Given the description of an element on the screen output the (x, y) to click on. 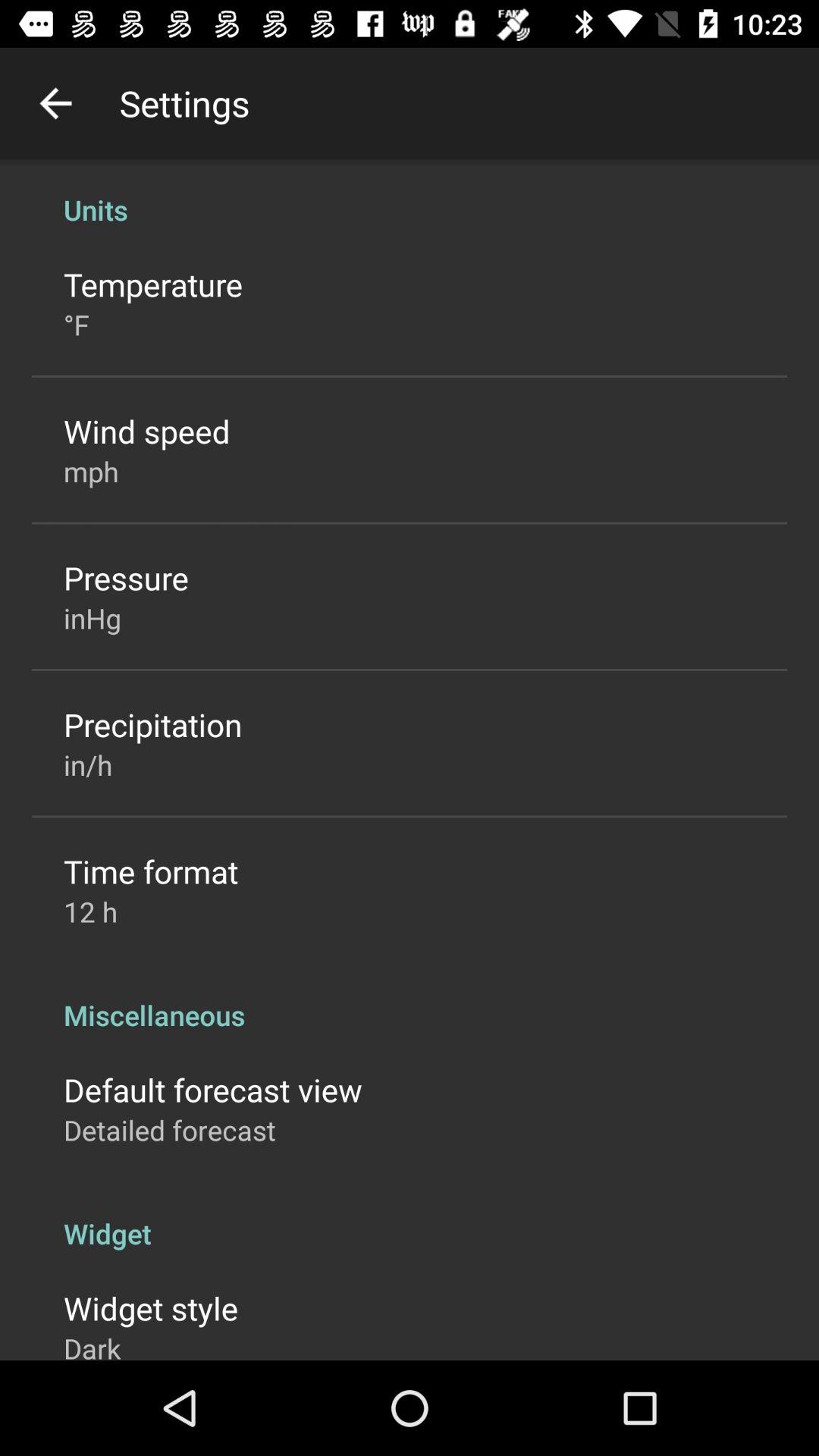
go back (55, 103)
